Given the description of an element on the screen output the (x, y) to click on. 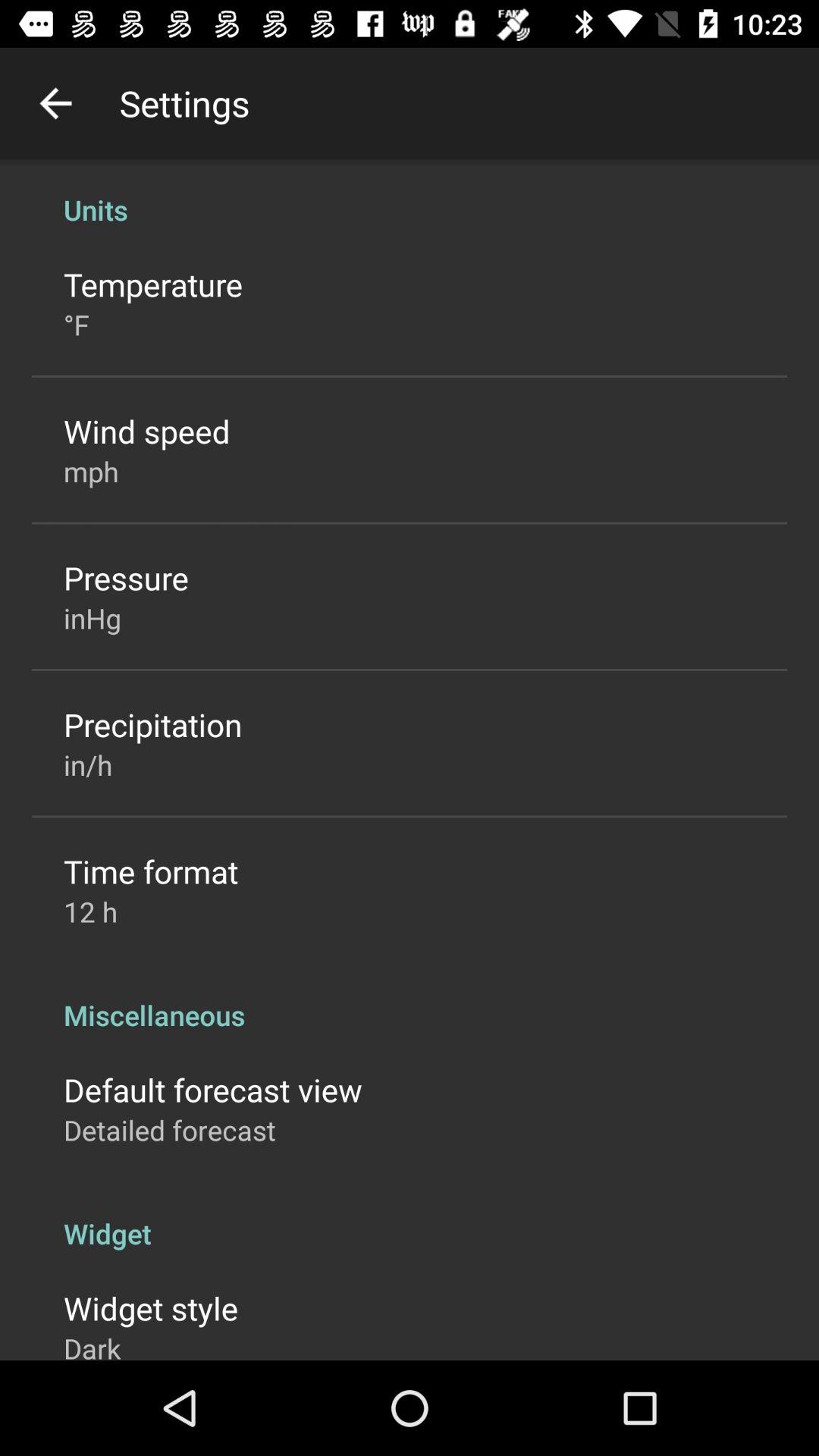
go back (55, 103)
